Given the description of an element on the screen output the (x, y) to click on. 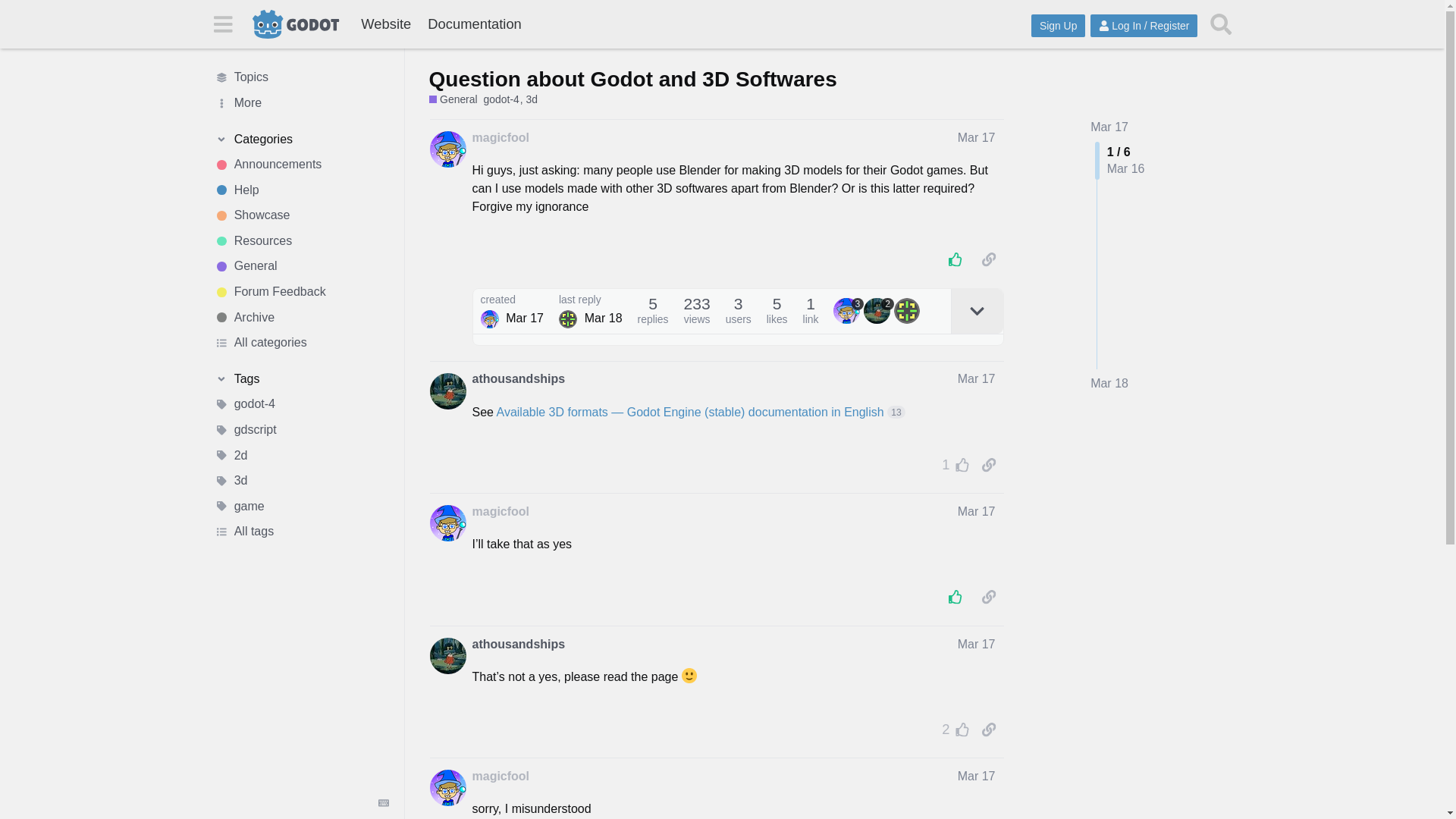
Official blog posts and other Godot announcements. (301, 164)
Mar 18 (1109, 383)
Tags (301, 379)
Mar 17 (1109, 126)
gdscript (301, 429)
Documentation (474, 23)
Archive (301, 317)
Resources (301, 240)
magicfool (500, 137)
More (301, 103)
Forum Feedback (301, 291)
Sign Up (1057, 25)
Help (301, 190)
Toggle section (301, 379)
